Given the description of an element on the screen output the (x, y) to click on. 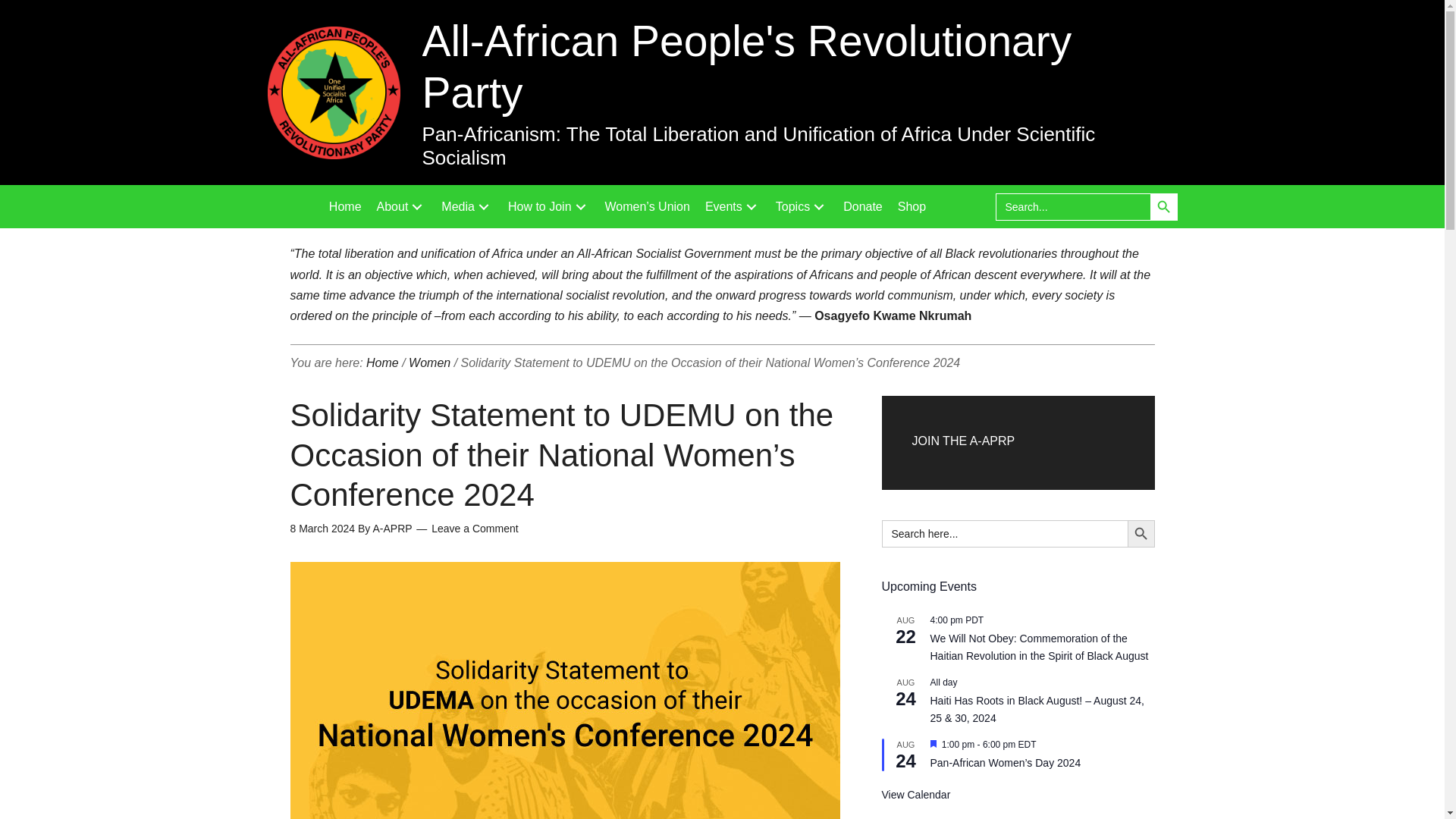
Home (382, 362)
A-APRP (392, 528)
Events (732, 206)
Home (345, 206)
Donate (862, 206)
View more events. (915, 794)
How to Join (548, 206)
Shop (911, 206)
Media (466, 206)
Women (429, 362)
